Given the description of an element on the screen output the (x, y) to click on. 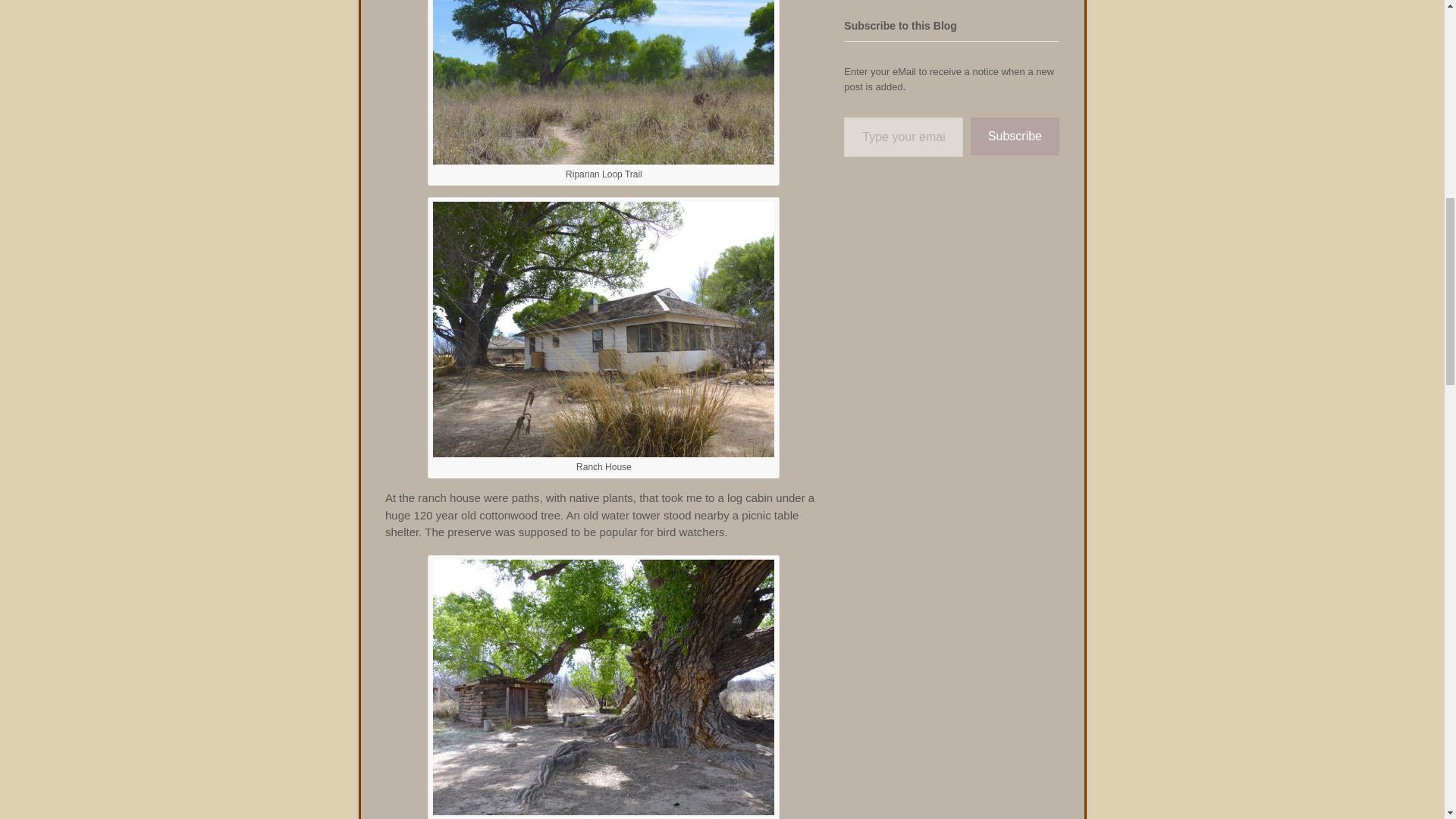
Please fill in this field. (903, 137)
